Given the description of an element on the screen output the (x, y) to click on. 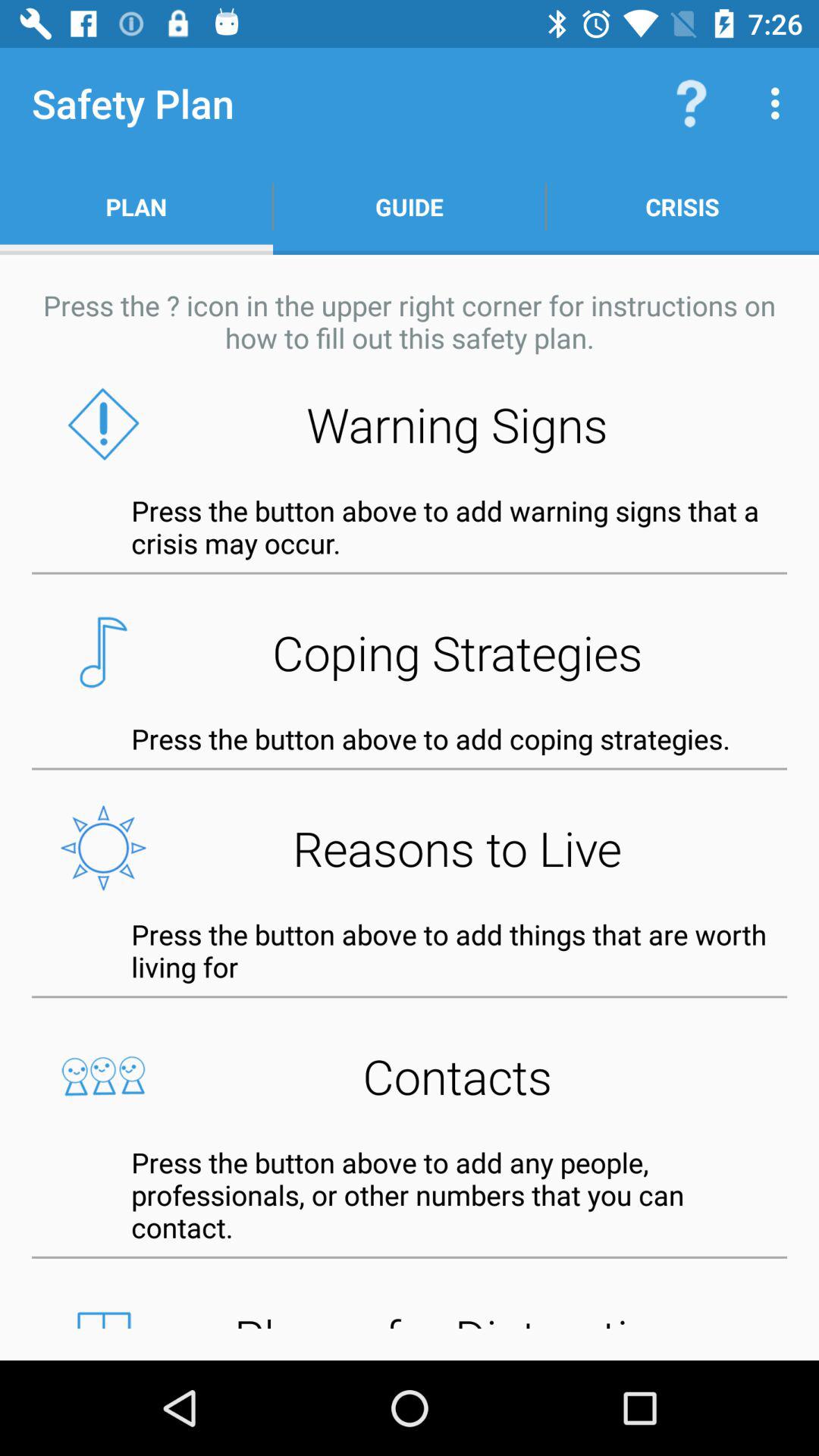
jump until the contacts button (409, 1075)
